Given the description of an element on the screen output the (x, y) to click on. 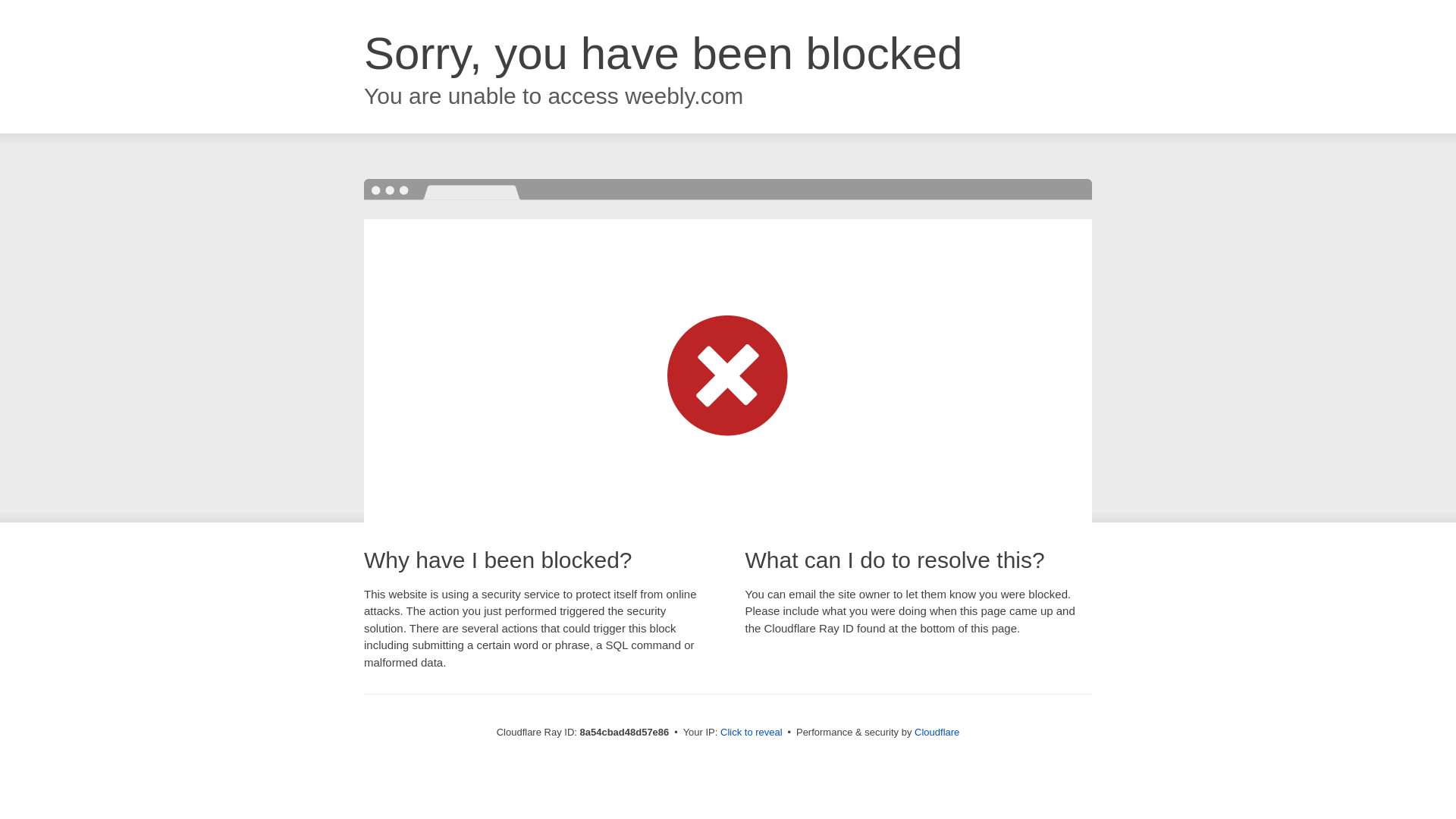
Cloudflare (936, 731)
Click to reveal (751, 732)
